Given the description of an element on the screen output the (x, y) to click on. 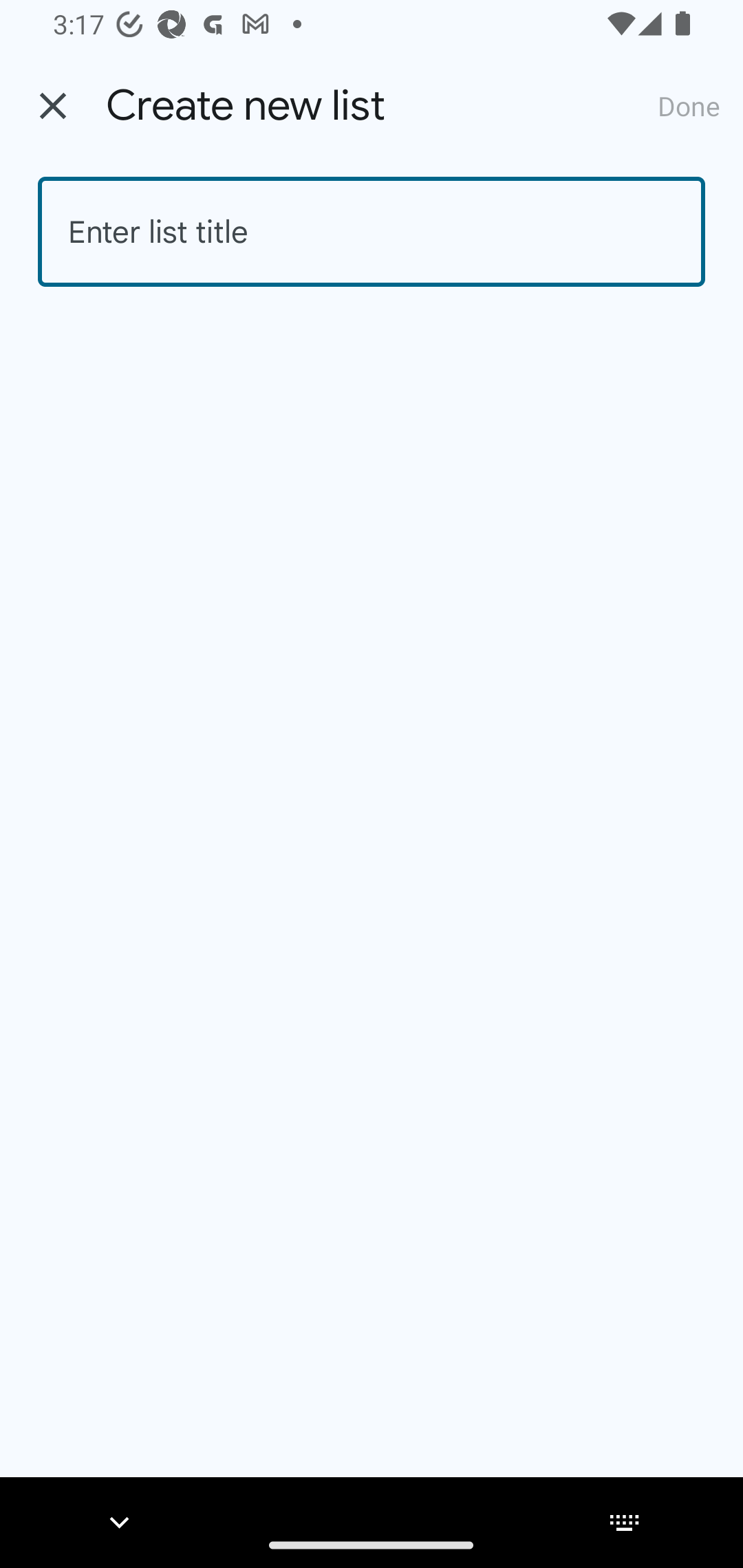
Back (53, 105)
Done (689, 105)
Enter list title (371, 231)
